Given the description of an element on the screen output the (x, y) to click on. 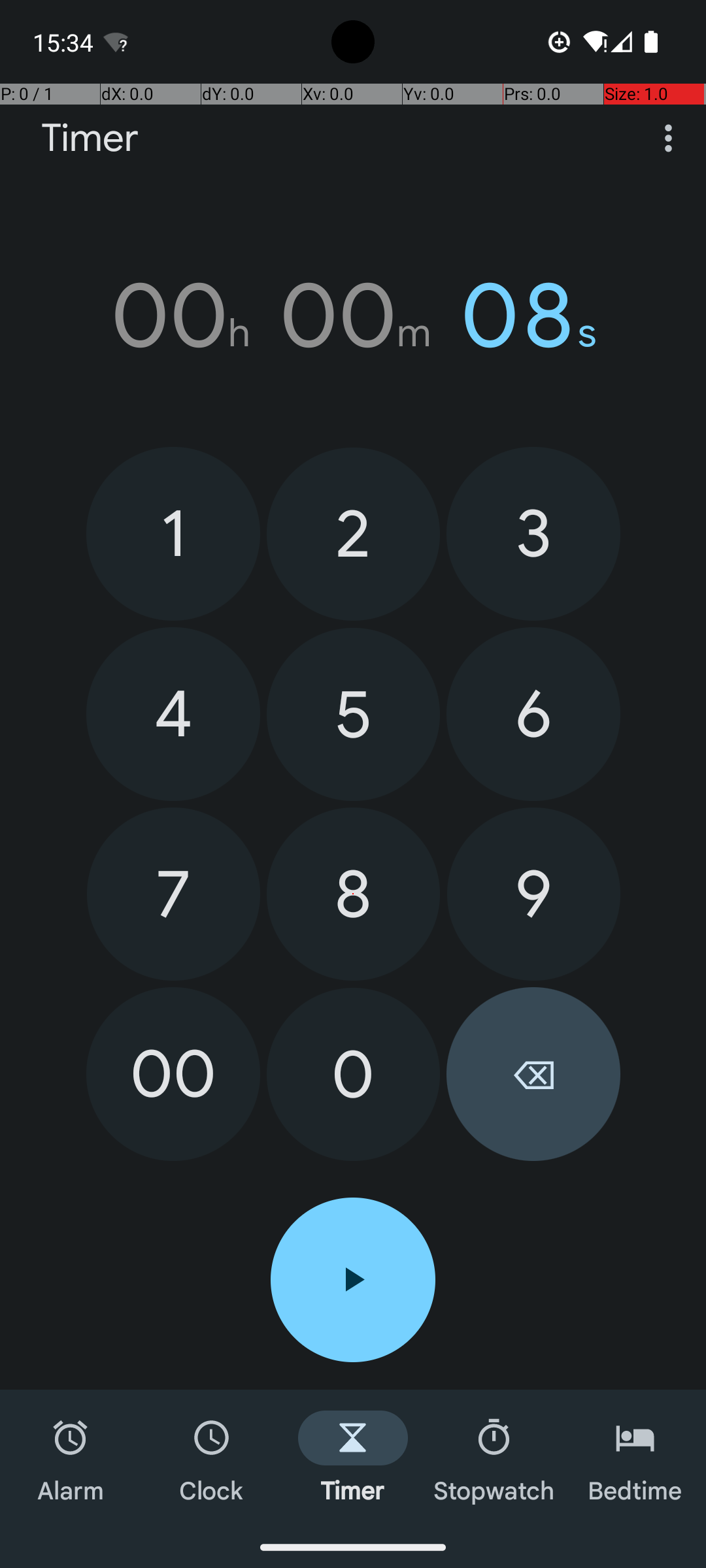
00h 00m 08s Element type: android.widget.TextView (353, 315)
